Given the description of an element on the screen output the (x, y) to click on. 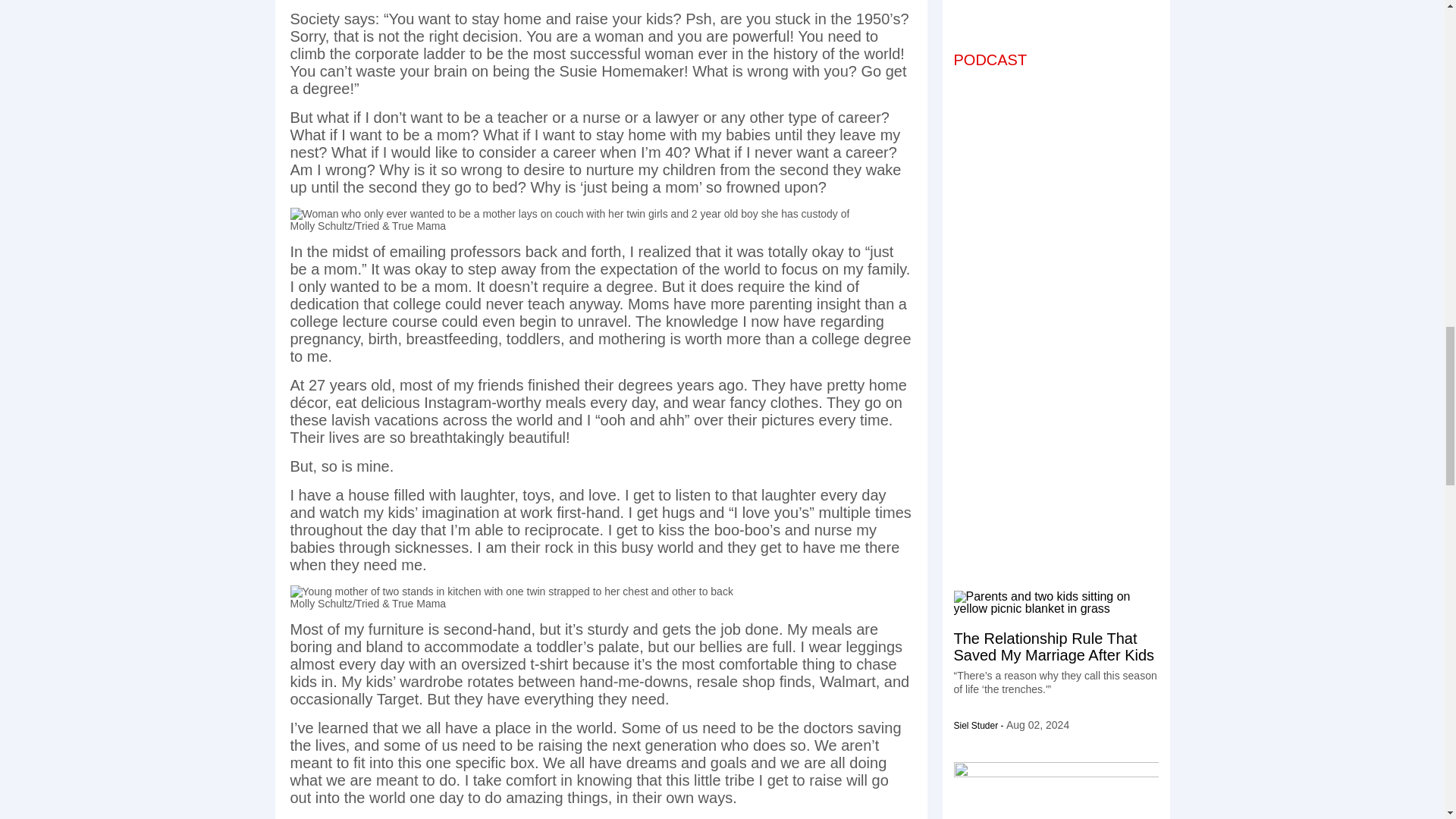
August 2, 2024 (1037, 725)
